Given the description of an element on the screen output the (x, y) to click on. 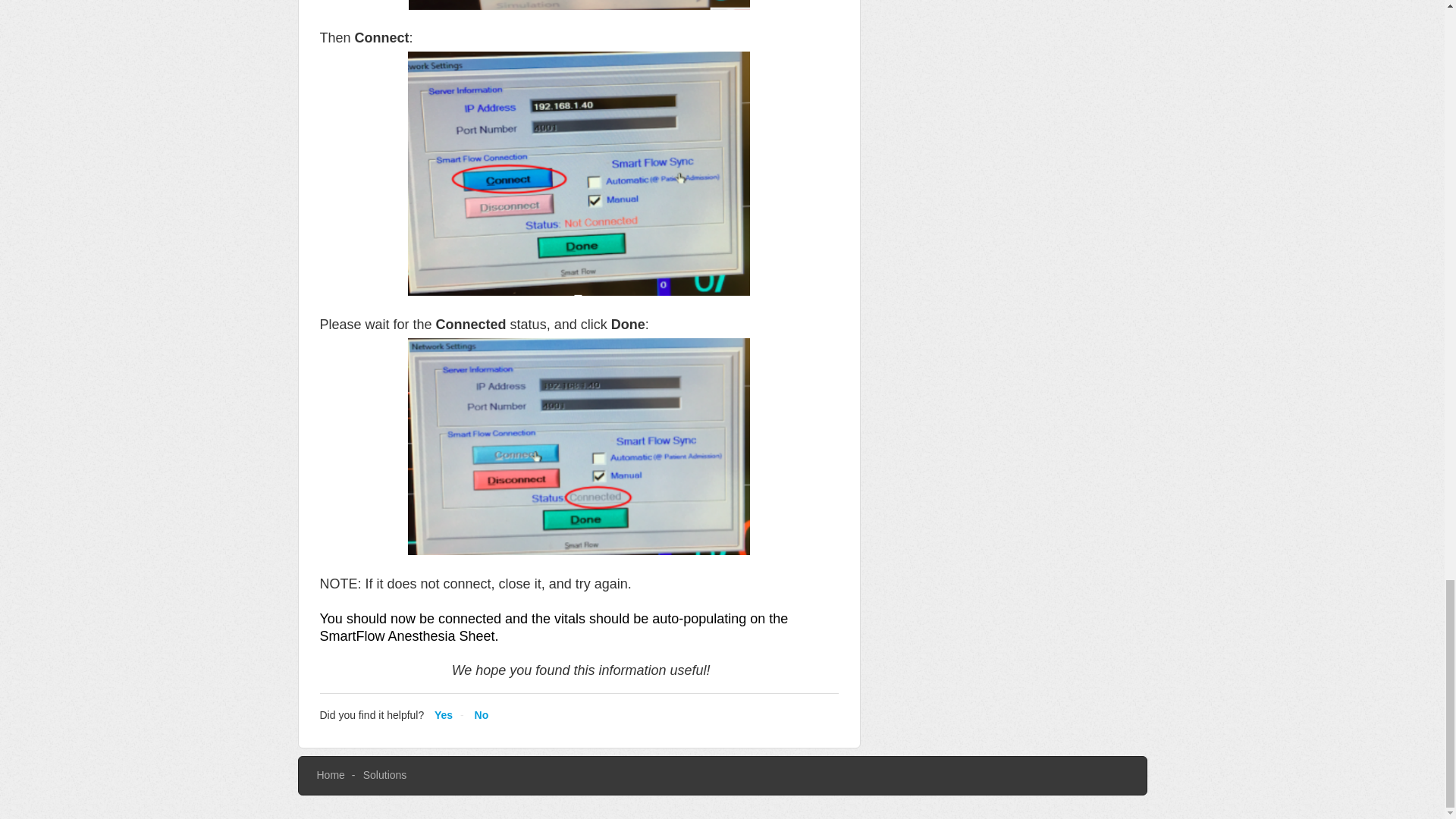
Solutions (384, 775)
Home (331, 775)
